Given the description of an element on the screen output the (x, y) to click on. 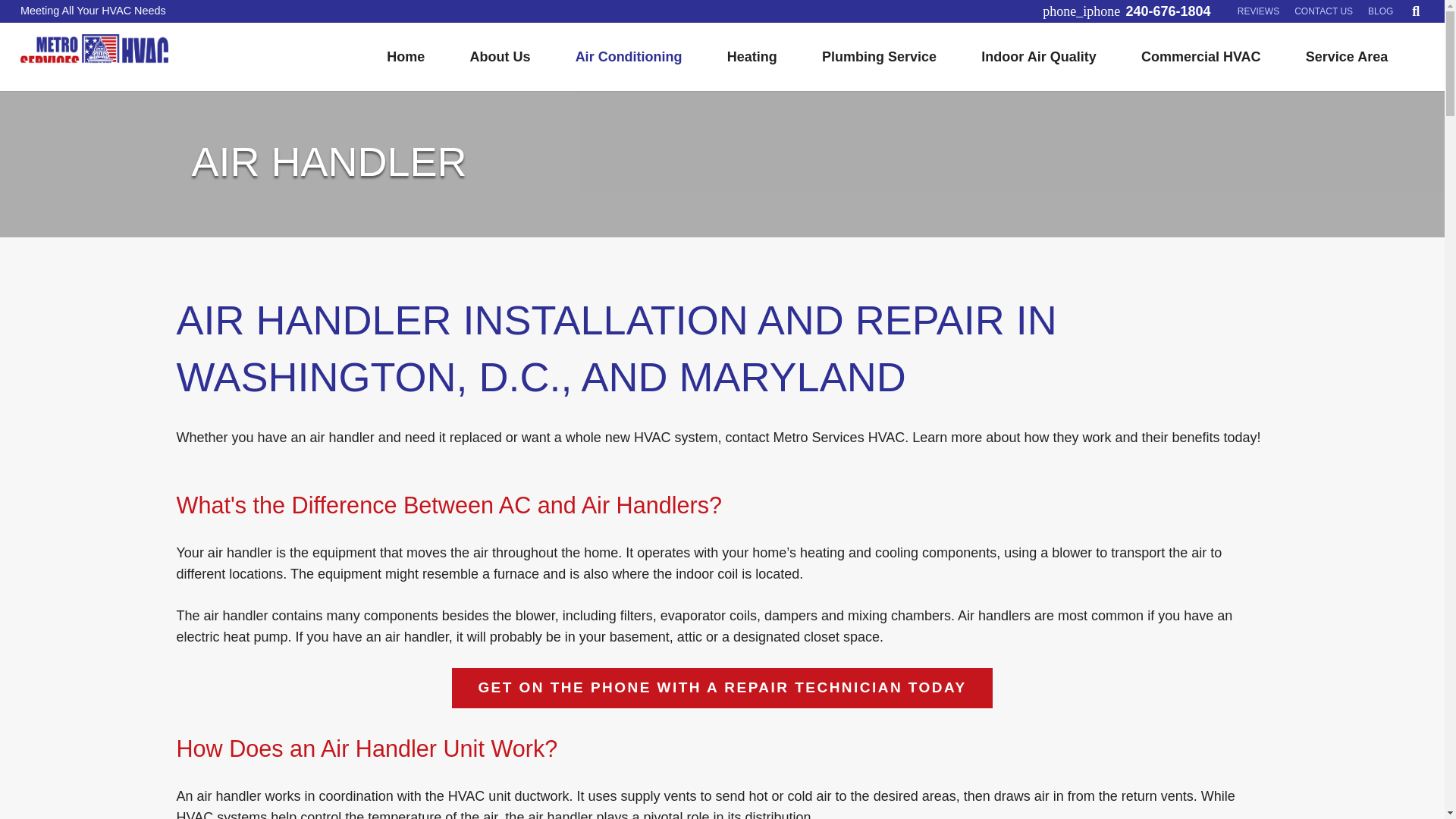
REVIEWS (1258, 11)
Heating (751, 56)
Plumbing Service (878, 56)
About Us (499, 56)
Get On The Phone With a Repair Technician Today (721, 688)
BLOG (1379, 11)
Air Conditioning (628, 56)
CONTACT US (1323, 11)
